Given the description of an element on the screen output the (x, y) to click on. 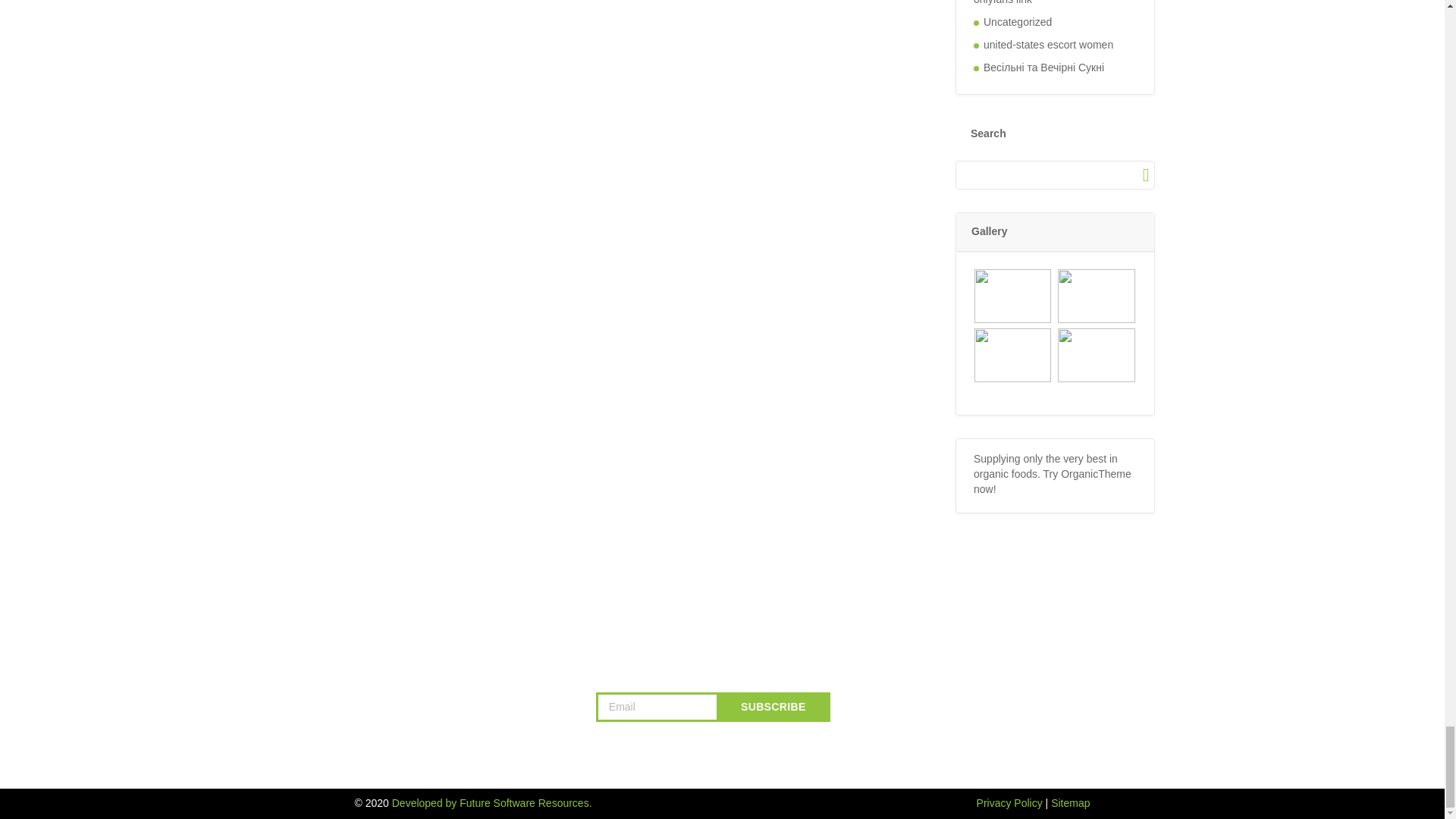
Subscribe (772, 706)
